Given the description of an element on the screen output the (x, y) to click on. 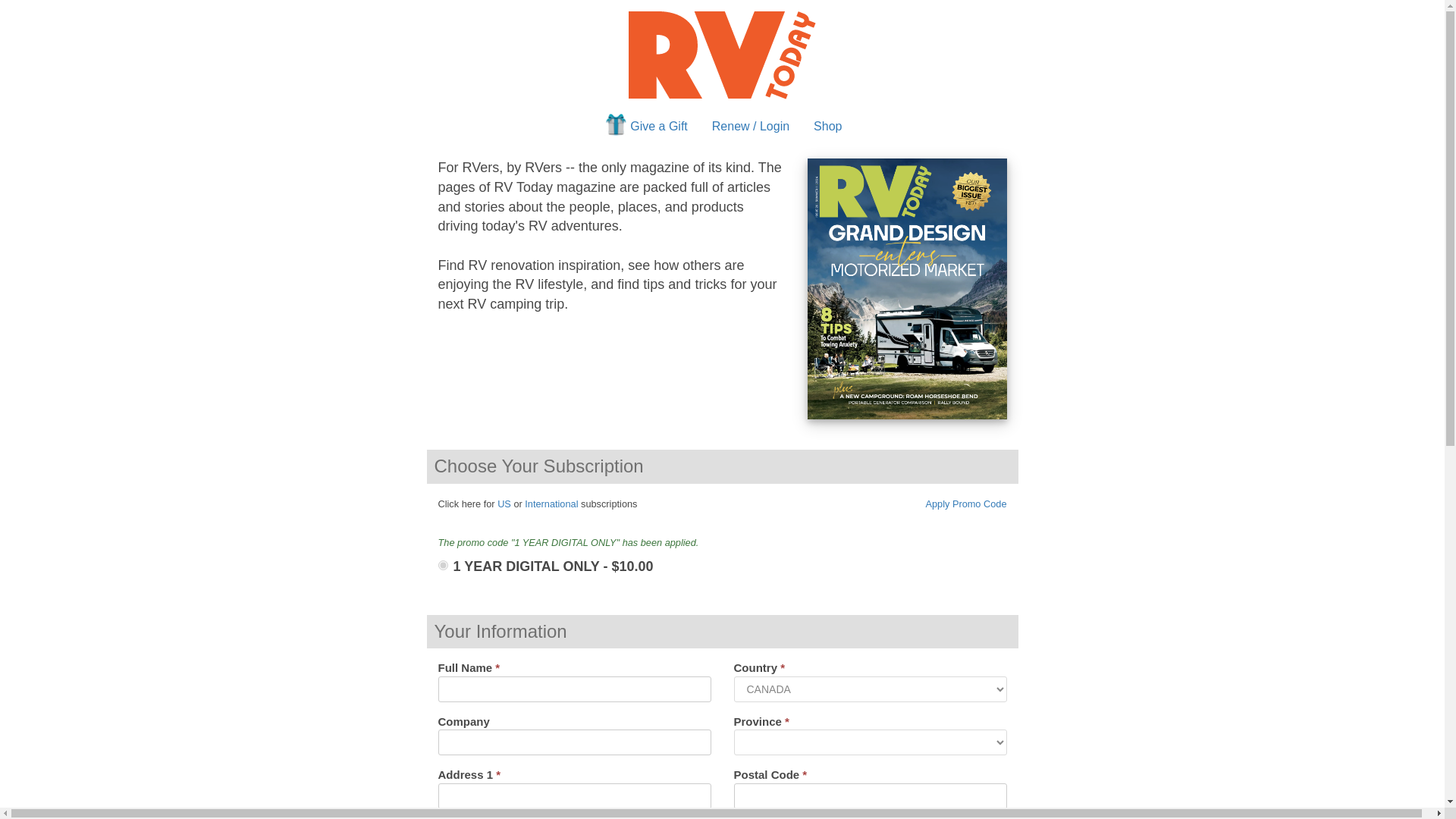
35320 (443, 565)
US (504, 503)
Give a Gift (644, 126)
Shop (827, 126)
International (551, 503)
Apply Promo Code (965, 502)
